Given the description of an element on the screen output the (x, y) to click on. 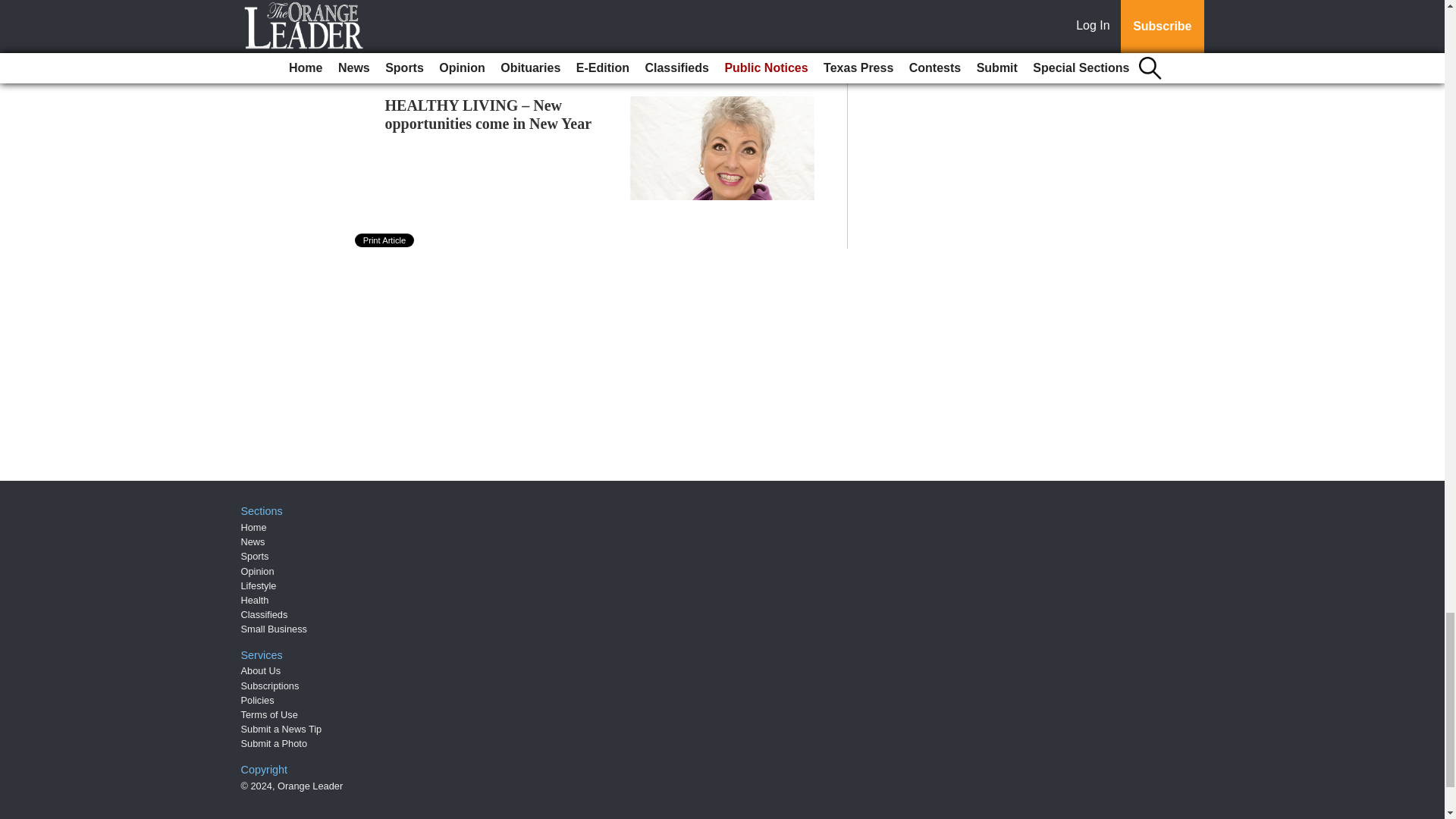
Print Article (384, 240)
